Given the description of an element on the screen output the (x, y) to click on. 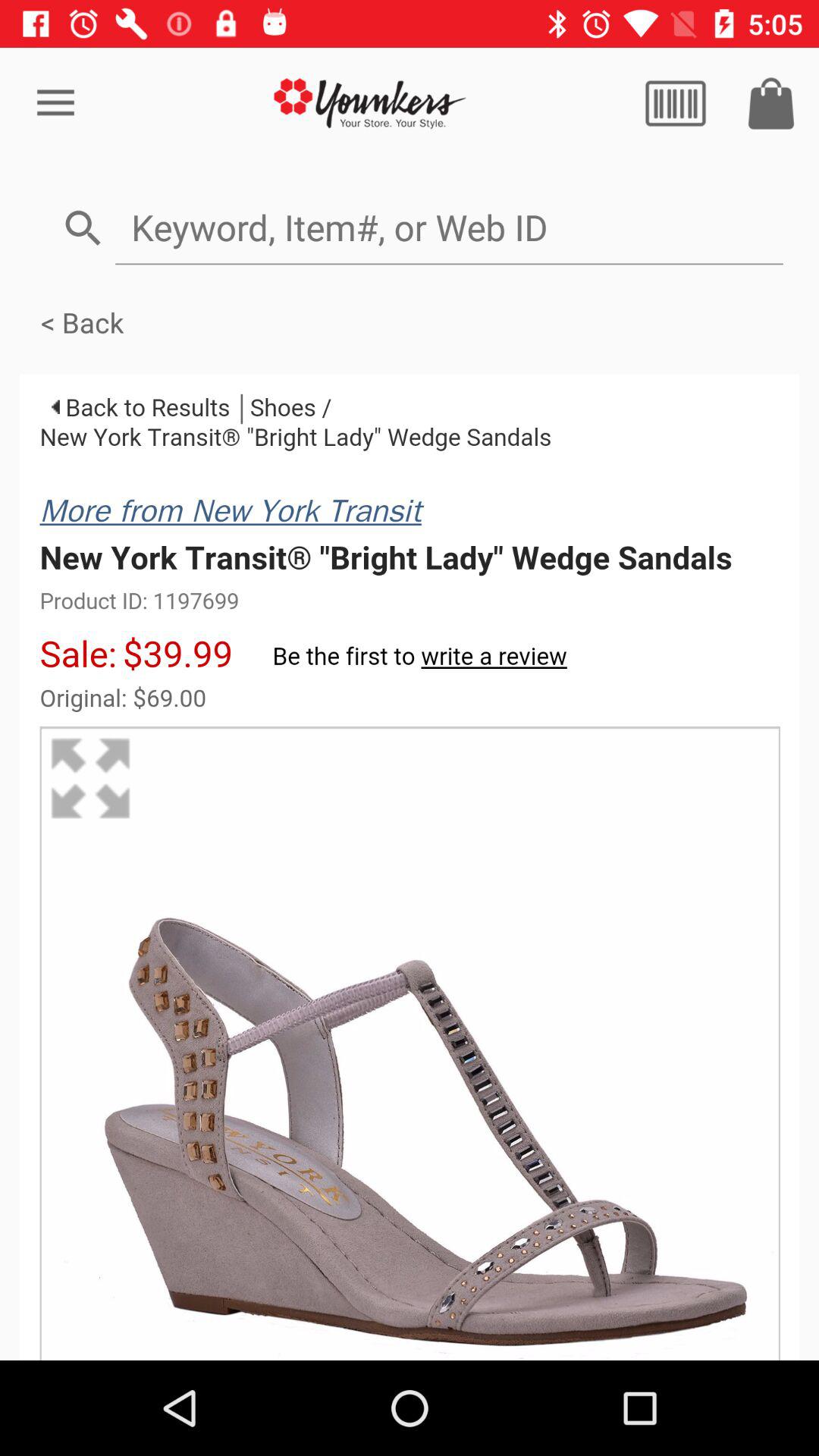
search for an item (449, 227)
